Given the description of an element on the screen output the (x, y) to click on. 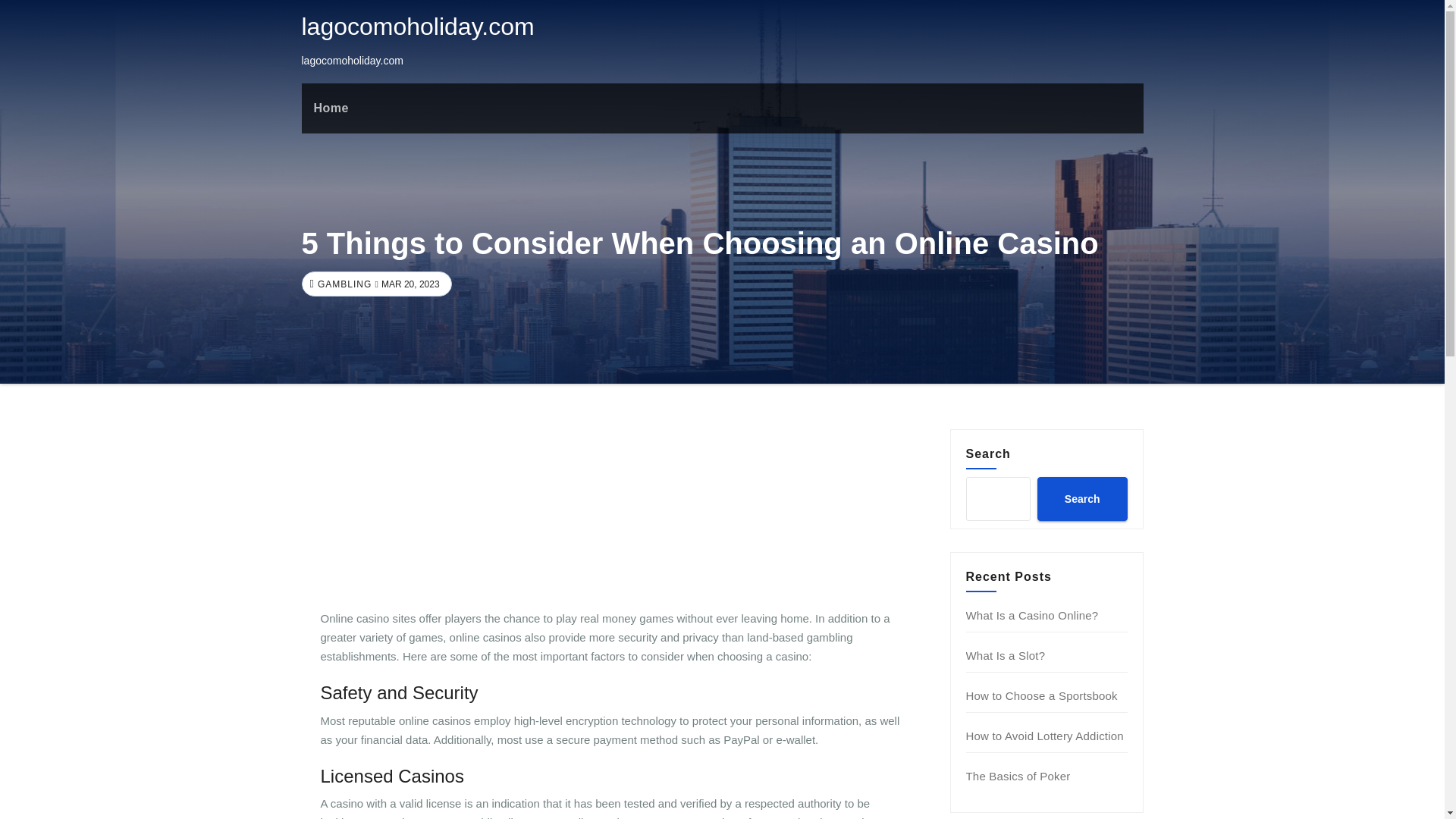
How to Choose a Sportsbook (1042, 695)
How to Avoid Lottery Addiction (1045, 735)
What Is a Casino Online? (1032, 615)
Search (1081, 498)
Home (331, 108)
The Basics of Poker (1018, 775)
lagocomoholiday.com (417, 26)
GAMBLING (342, 284)
Home (331, 108)
What Is a Slot? (1005, 655)
